Given the description of an element on the screen output the (x, y) to click on. 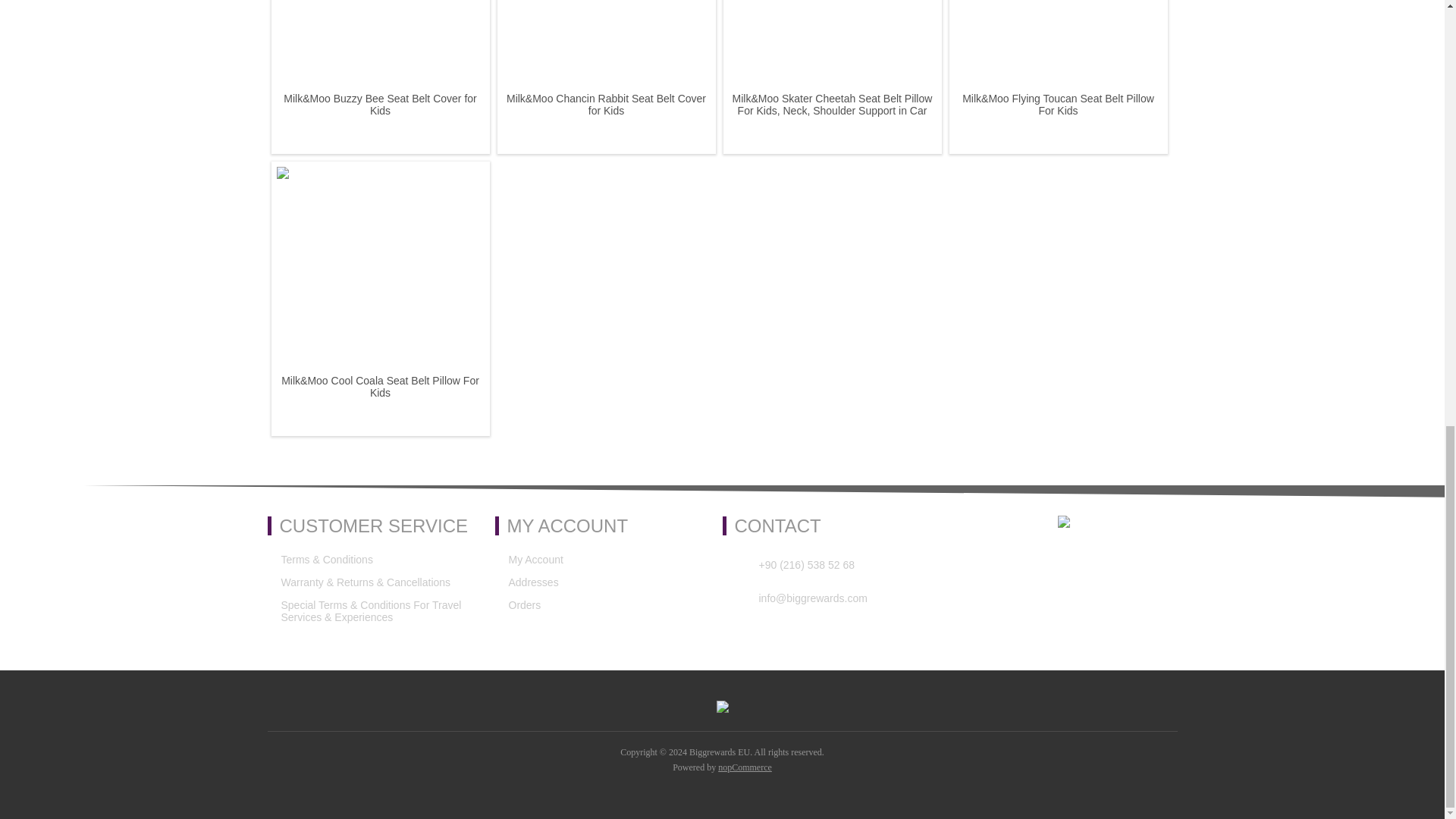
Orders (524, 604)
Addresses (532, 581)
My Account (535, 558)
media.product.imagelinktitleformat (379, 46)
